Given the description of an element on the screen output the (x, y) to click on. 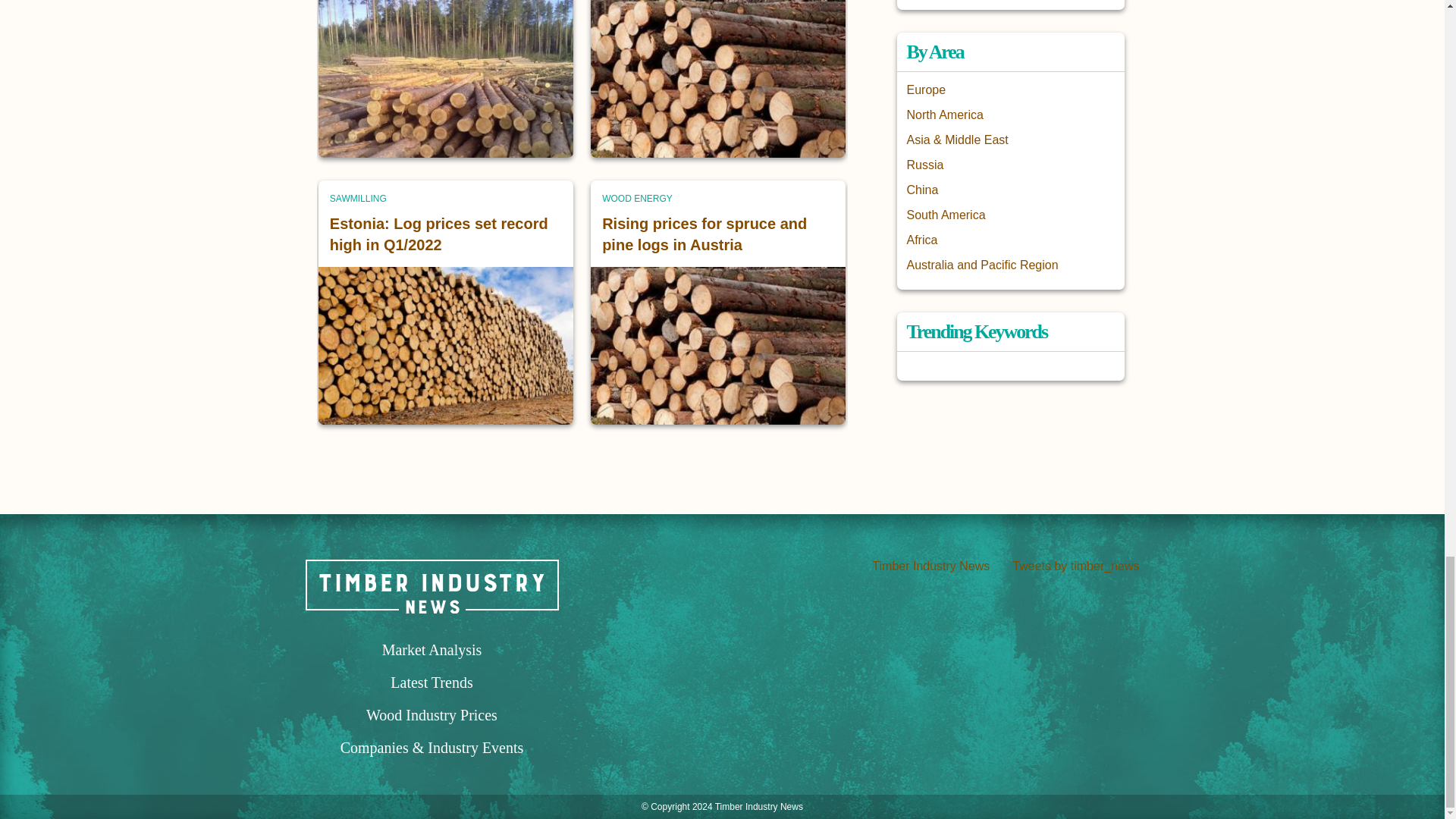
timber-industry-news-logo (430, 586)
SAWMILLING (358, 198)
WOOD ENERGY (637, 198)
Rising prices for spruce and pine logs in Austria (704, 234)
